Given the description of an element on the screen output the (x, y) to click on. 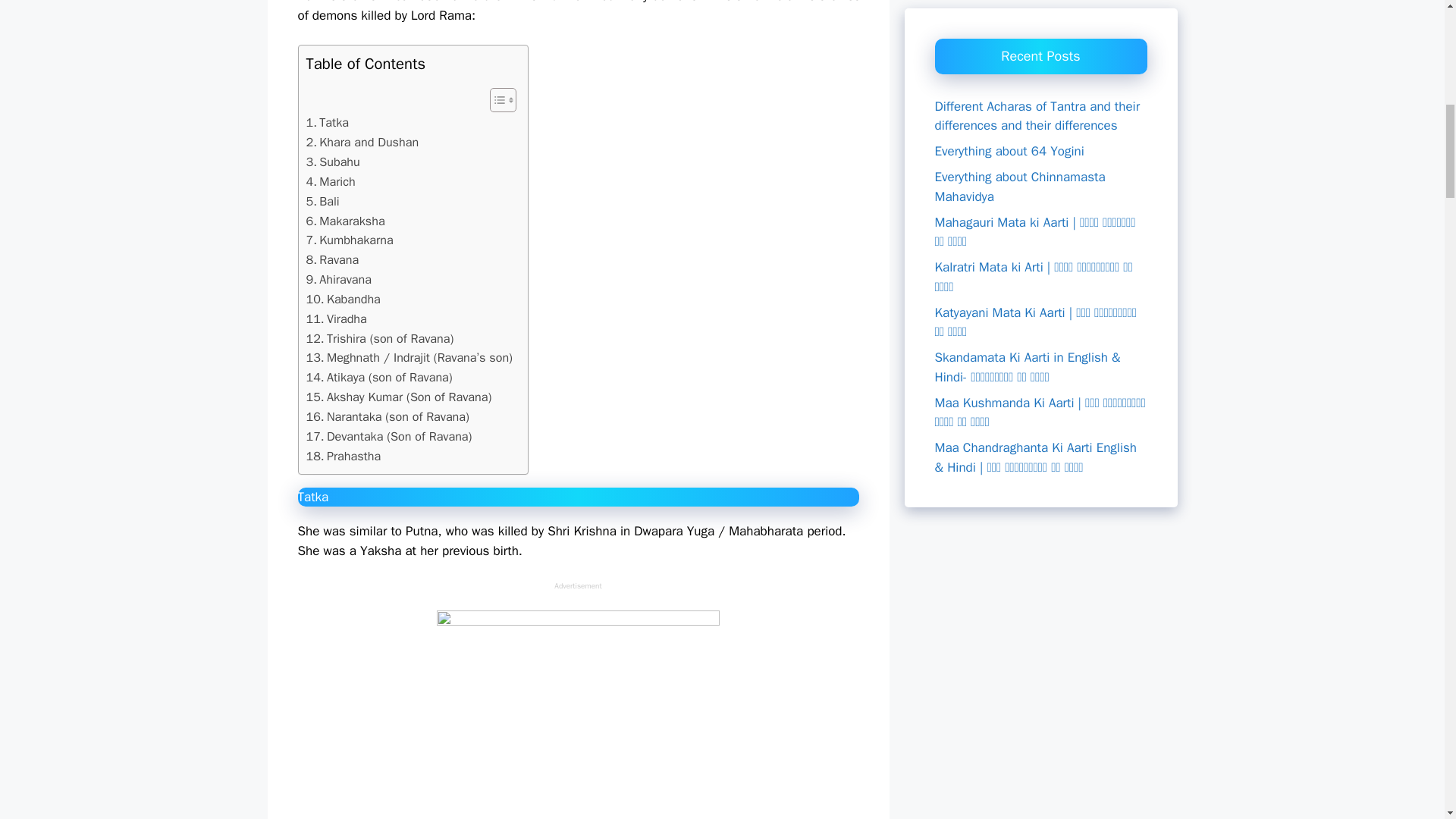
Ravana (332, 260)
Ahiravana (338, 279)
Khara and Dushan (362, 142)
Makaraksha (345, 220)
Bali (322, 201)
Bali (322, 201)
Prahastha (343, 456)
Makaraksha (345, 220)
Kabandha (342, 299)
Subahu  (332, 161)
Khara and Dushan (362, 142)
Tatka  (327, 122)
Marich (330, 181)
Tatka (327, 122)
Viradha (335, 319)
